Given the description of an element on the screen output the (x, y) to click on. 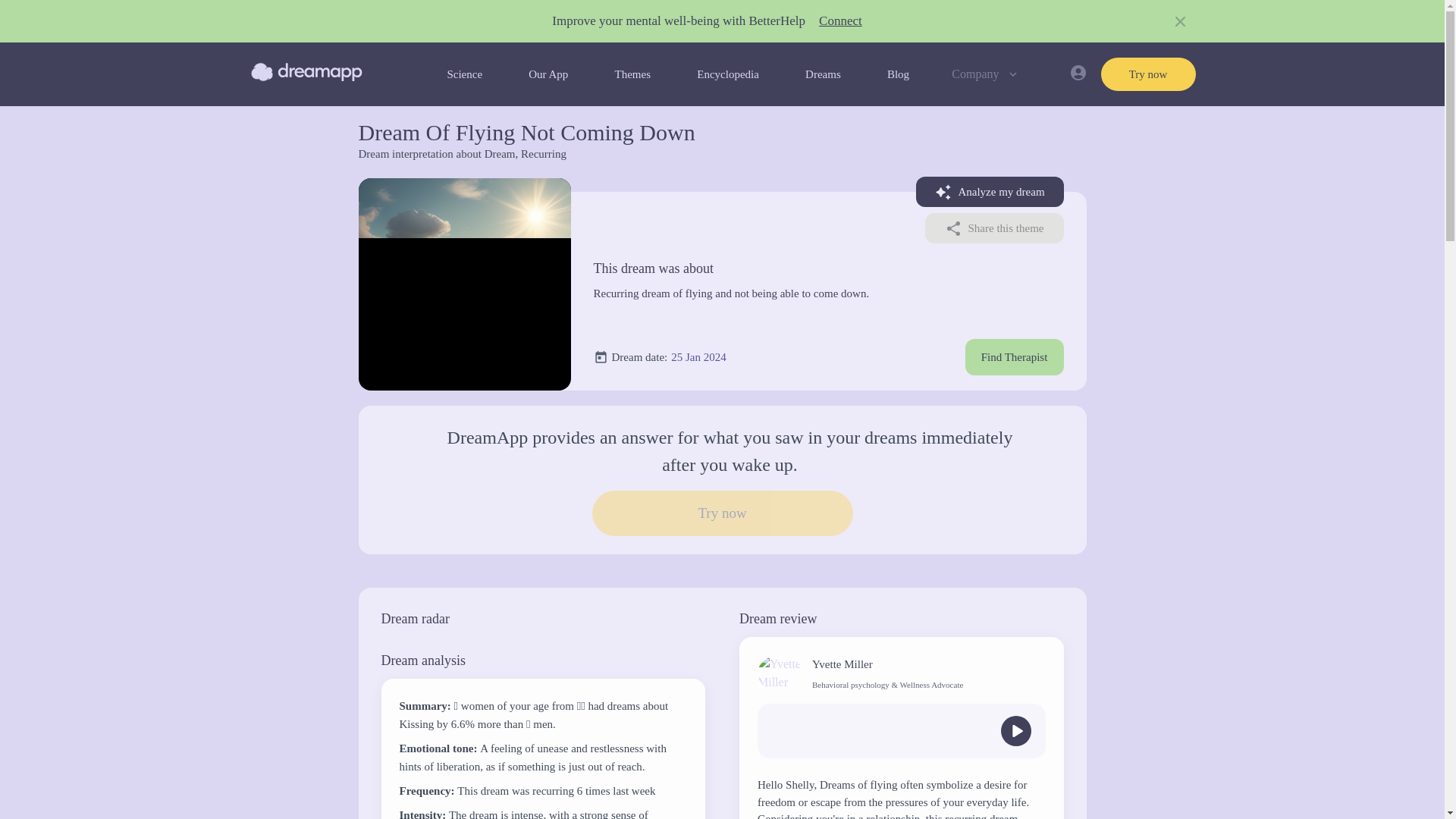
Company (986, 73)
Encyclopedia (727, 74)
Analyze my dream (989, 191)
Our App (548, 74)
Improve your mental well-being with BetterHelp (678, 21)
Blog (897, 74)
Connect (839, 21)
Share this theme (994, 227)
Themes (632, 74)
Science (464, 74)
